Given the description of an element on the screen output the (x, y) to click on. 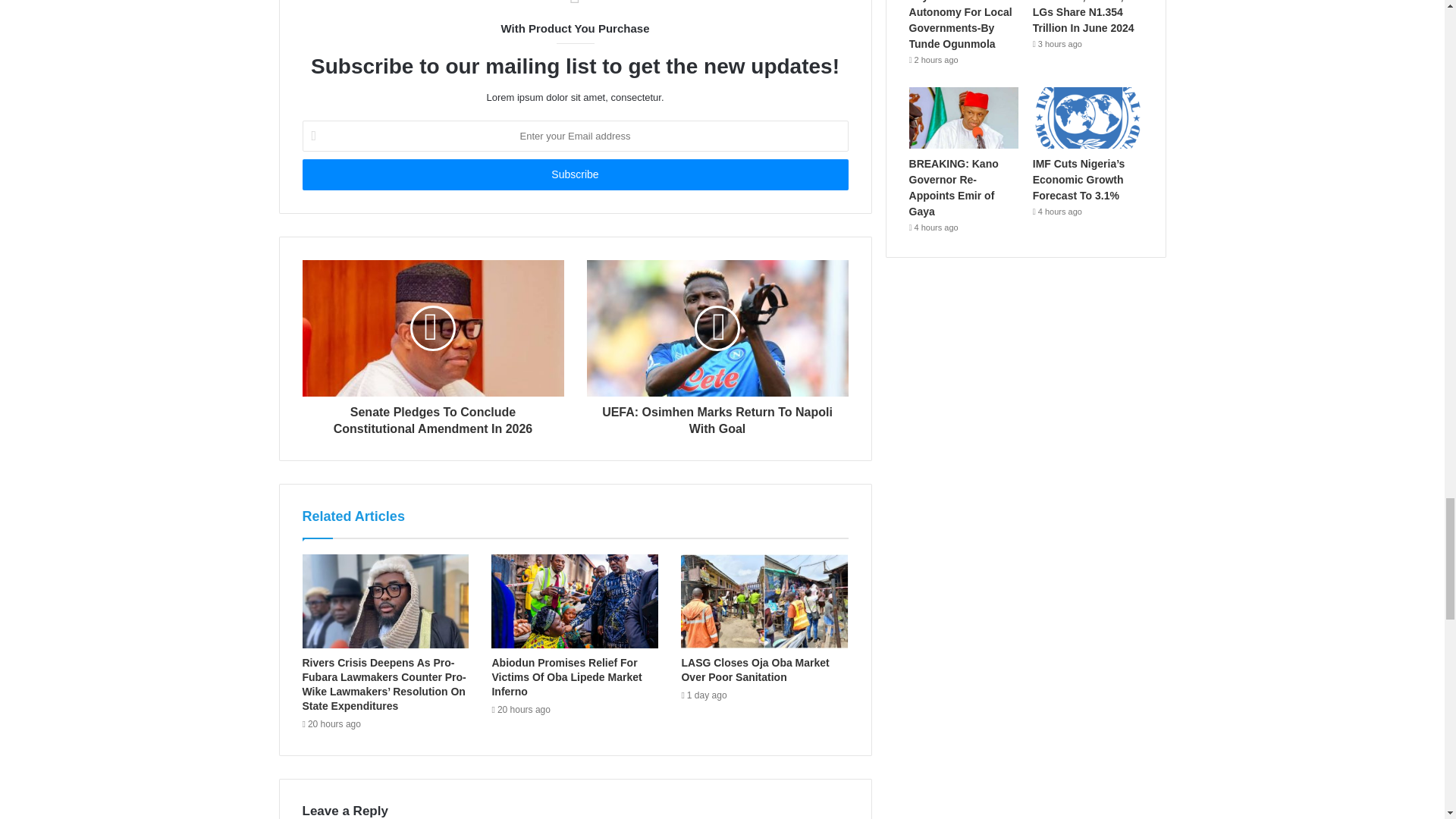
Subscribe (574, 174)
